Given the description of an element on the screen output the (x, y) to click on. 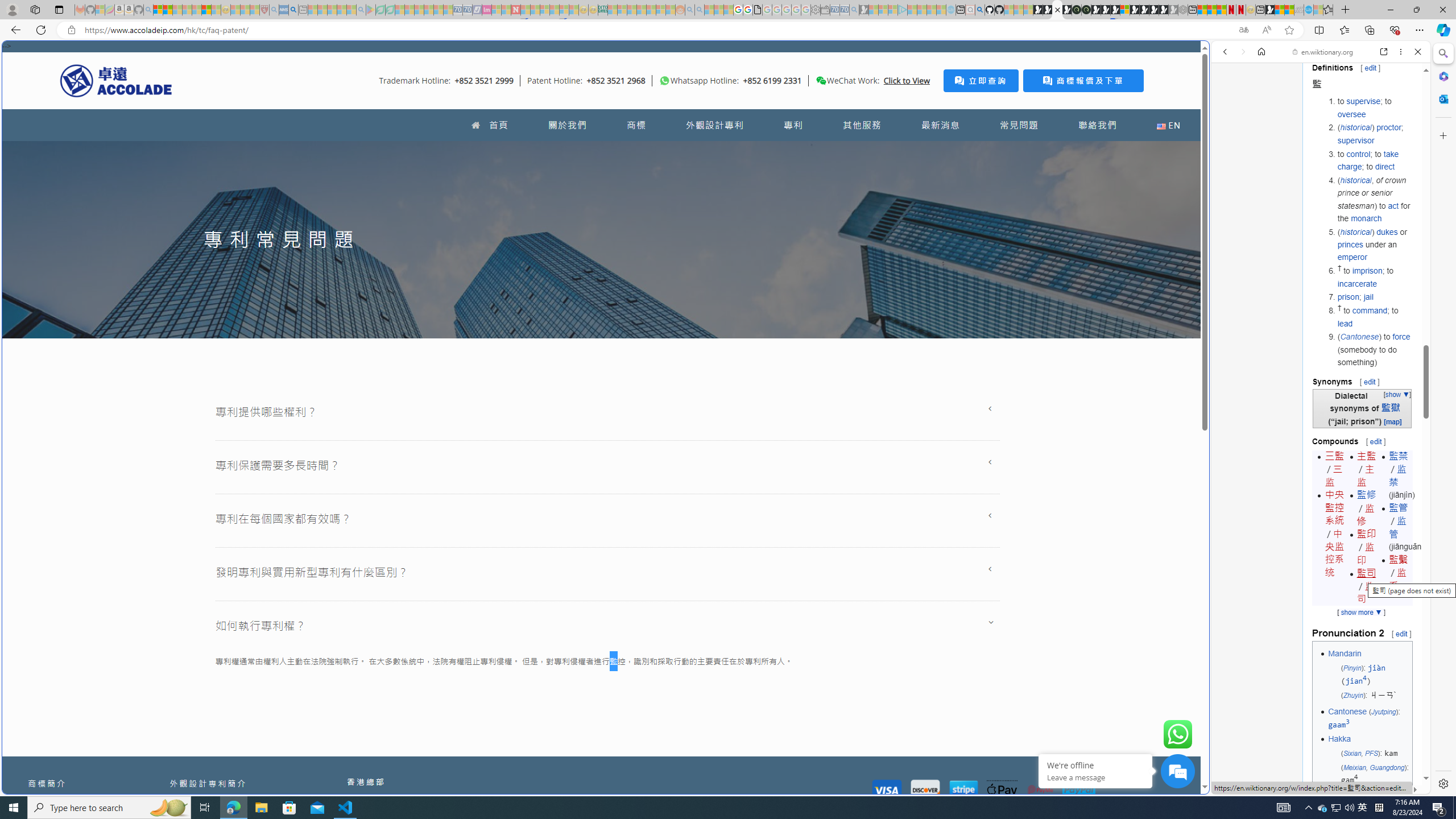
More options (1401, 51)
Home (1261, 51)
Local - MSN - Sleeping (254, 9)
jian4 (1356, 681)
